Given the description of an element on the screen output the (x, y) to click on. 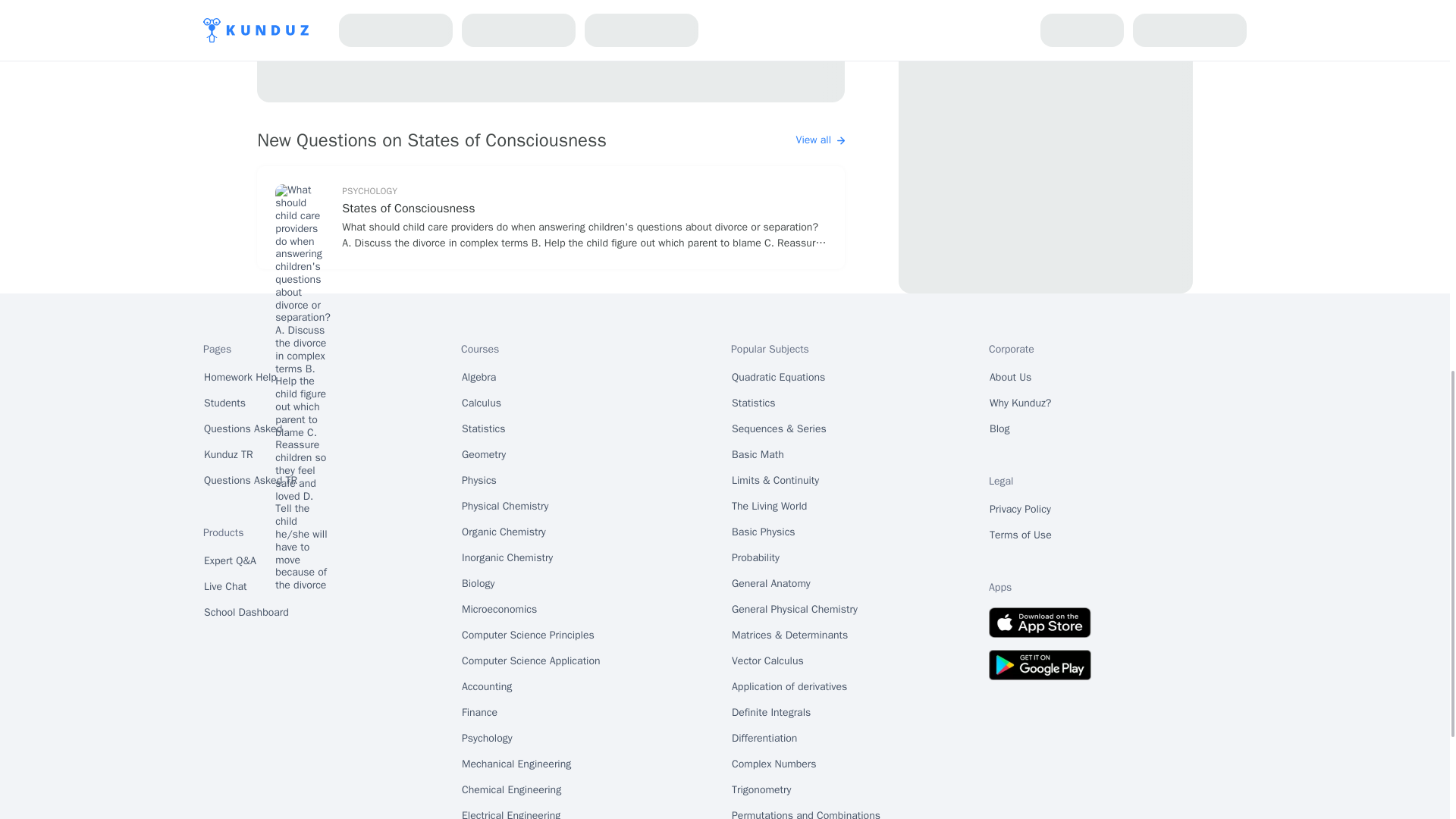
School Dashboard (246, 612)
Physical Chemistry (504, 506)
Computer Science Application (531, 660)
Kunduz TR (228, 454)
Quadratic Equations (777, 377)
Homework Help (240, 377)
Live Chat (225, 586)
Physics (479, 480)
Chemical Engineering (511, 790)
View all (820, 139)
Students (224, 402)
Statistics (753, 402)
Geometry (483, 454)
States of Consciousness (584, 208)
loading (550, 51)
